Given the description of an element on the screen output the (x, y) to click on. 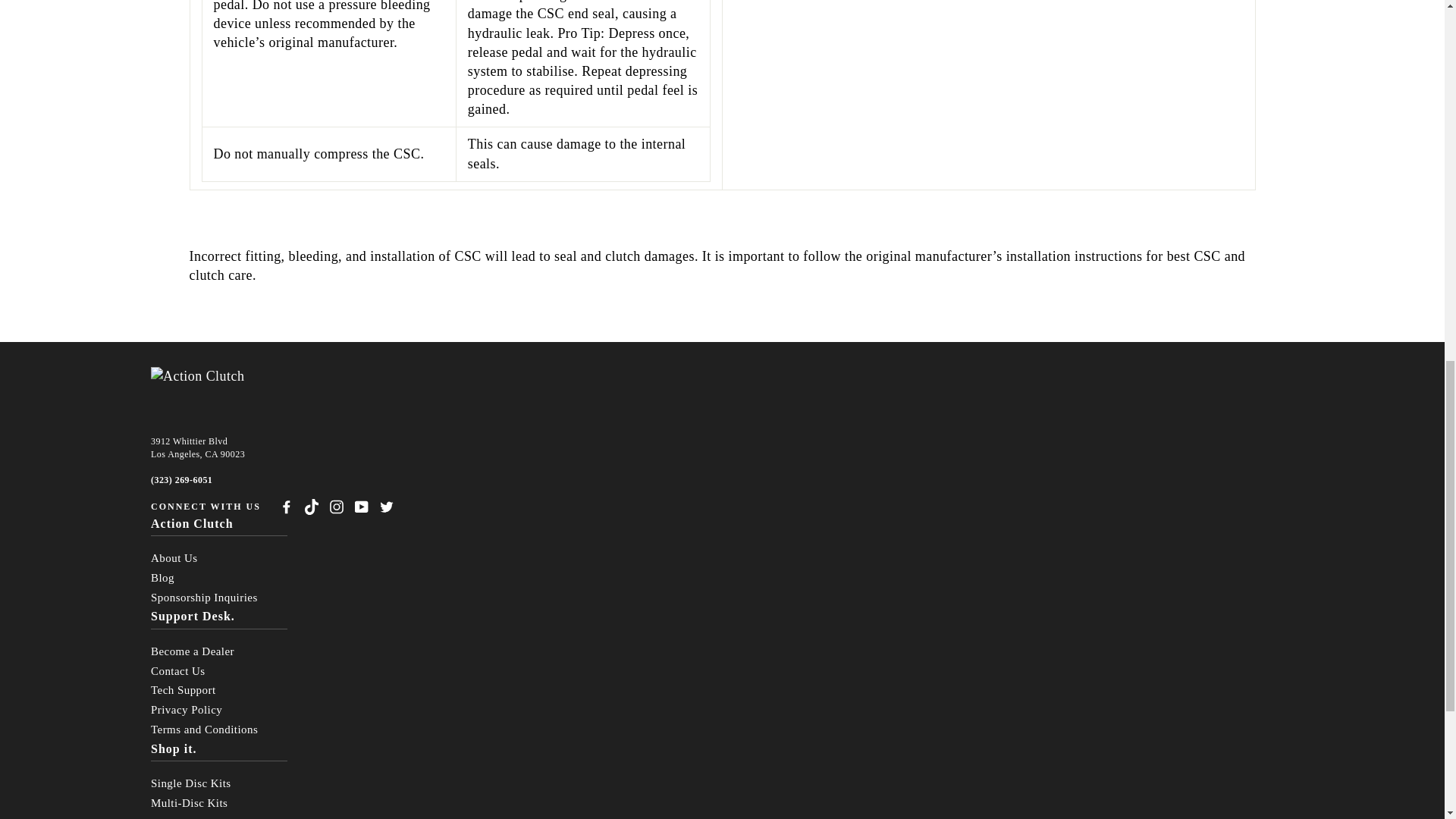
Action Clutch on Facebook (286, 506)
Action Clutch on YouTube (361, 506)
Action Clutch on Instagram (336, 506)
Action Clutch on Twitter (386, 506)
Action Clutch on TikTok (311, 506)
